Given the description of an element on the screen output the (x, y) to click on. 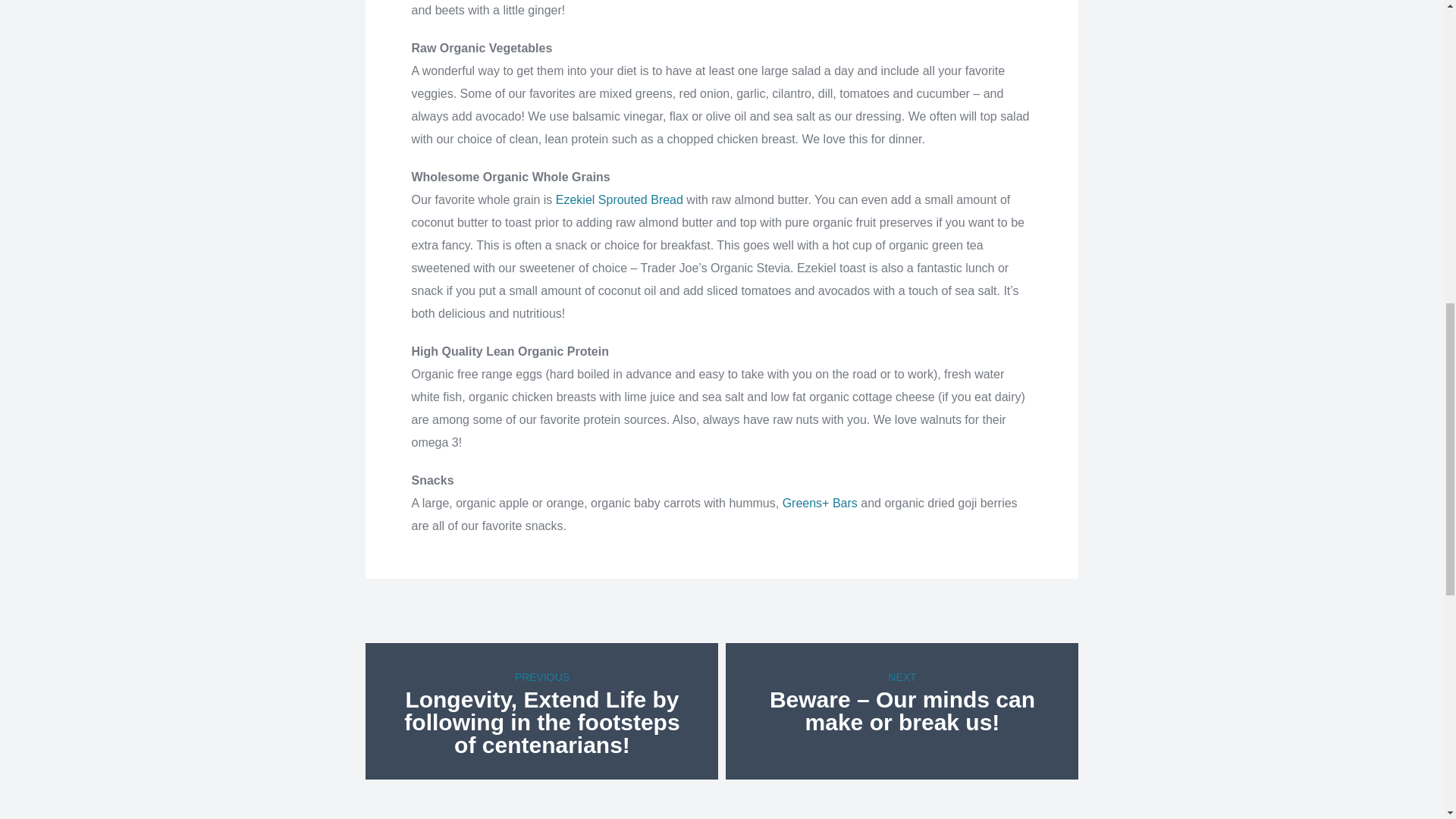
NEXT (901, 676)
Ezekiel Sprouted Bread (619, 199)
PREVIOUS (542, 676)
